Given the description of an element on the screen output the (x, y) to click on. 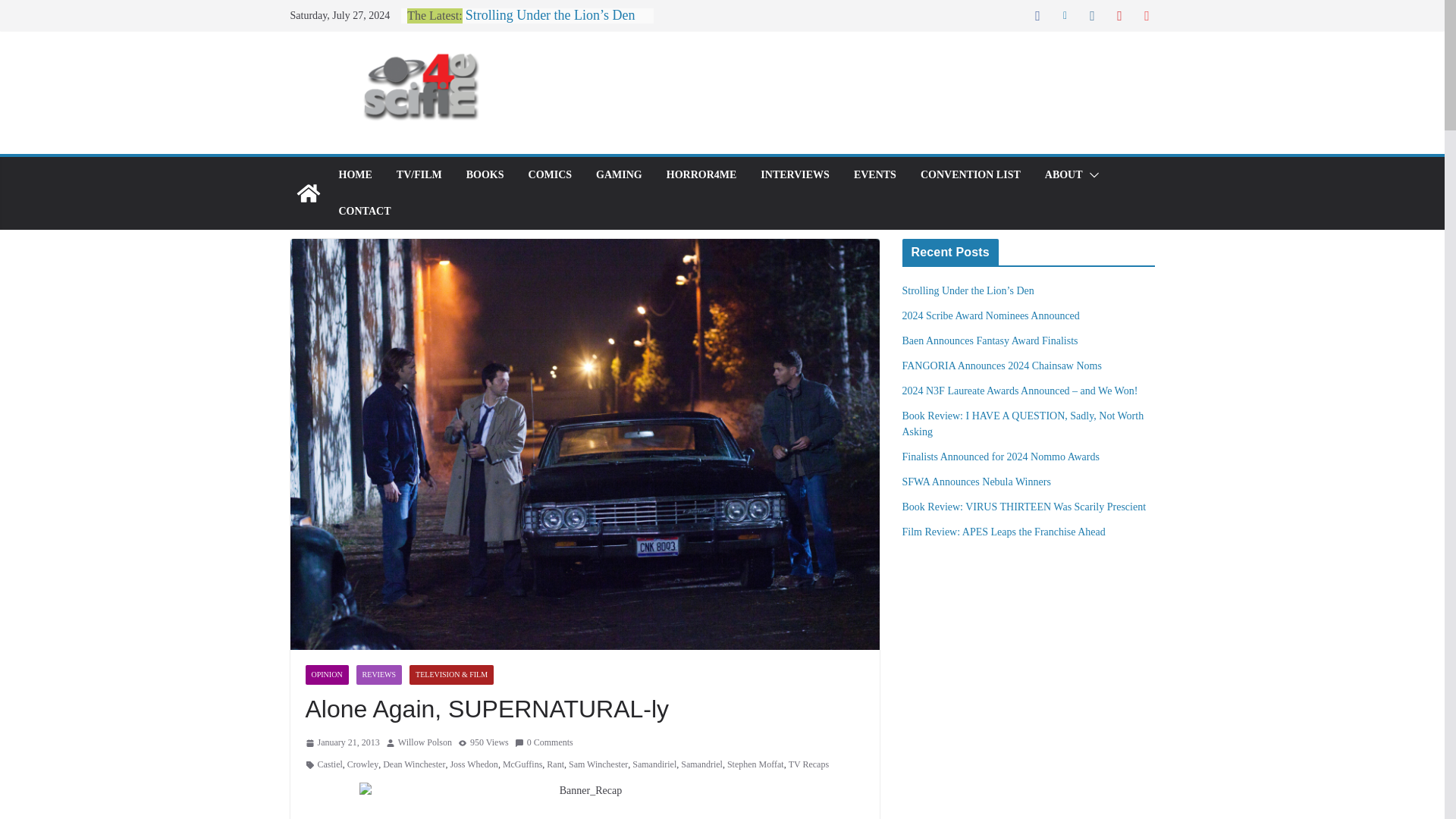
Rant (555, 764)
COMICS (550, 174)
HORROR4ME (701, 174)
BOOKS (484, 174)
Castiel (329, 764)
INTERVIEWS (794, 174)
CONVENTION LIST (970, 174)
Dean Winchester (413, 764)
Willow Polson (424, 742)
8:42 am (341, 742)
January 21, 2013 (341, 742)
0 Comments (544, 742)
Crowley (362, 764)
REVIEWS (378, 674)
HOME (354, 174)
